Given the description of an element on the screen output the (x, y) to click on. 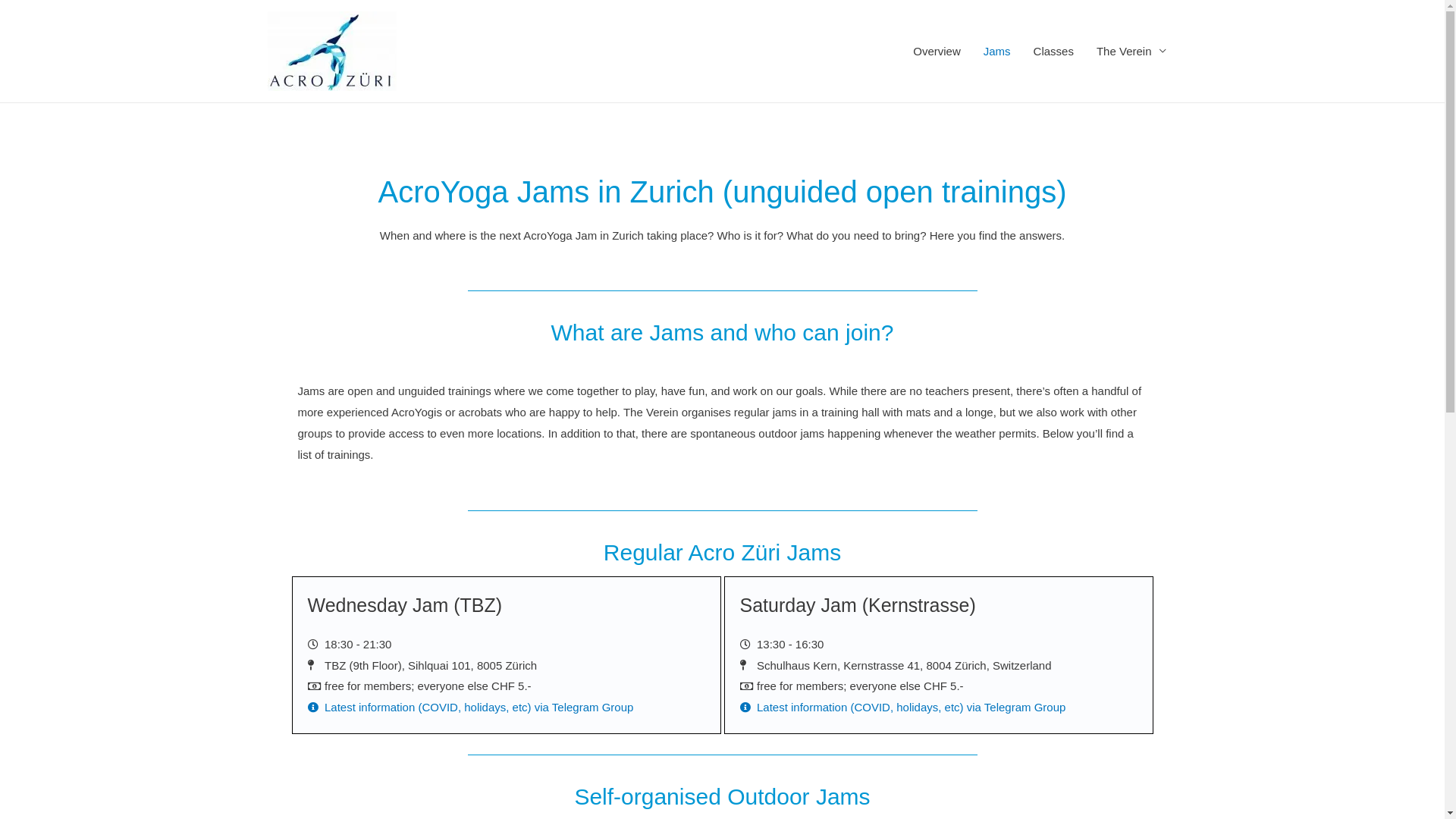
Latest information (COVID, holidays, etc) via Telegram Group Element type: text (506, 707)
The Verein Element type: text (1131, 51)
Overview Element type: text (936, 51)
Classes Element type: text (1053, 51)
Latest information (COVID, holidays, etc) via Telegram Group Element type: text (938, 707)
Jams Element type: text (997, 51)
